Given the description of an element on the screen output the (x, y) to click on. 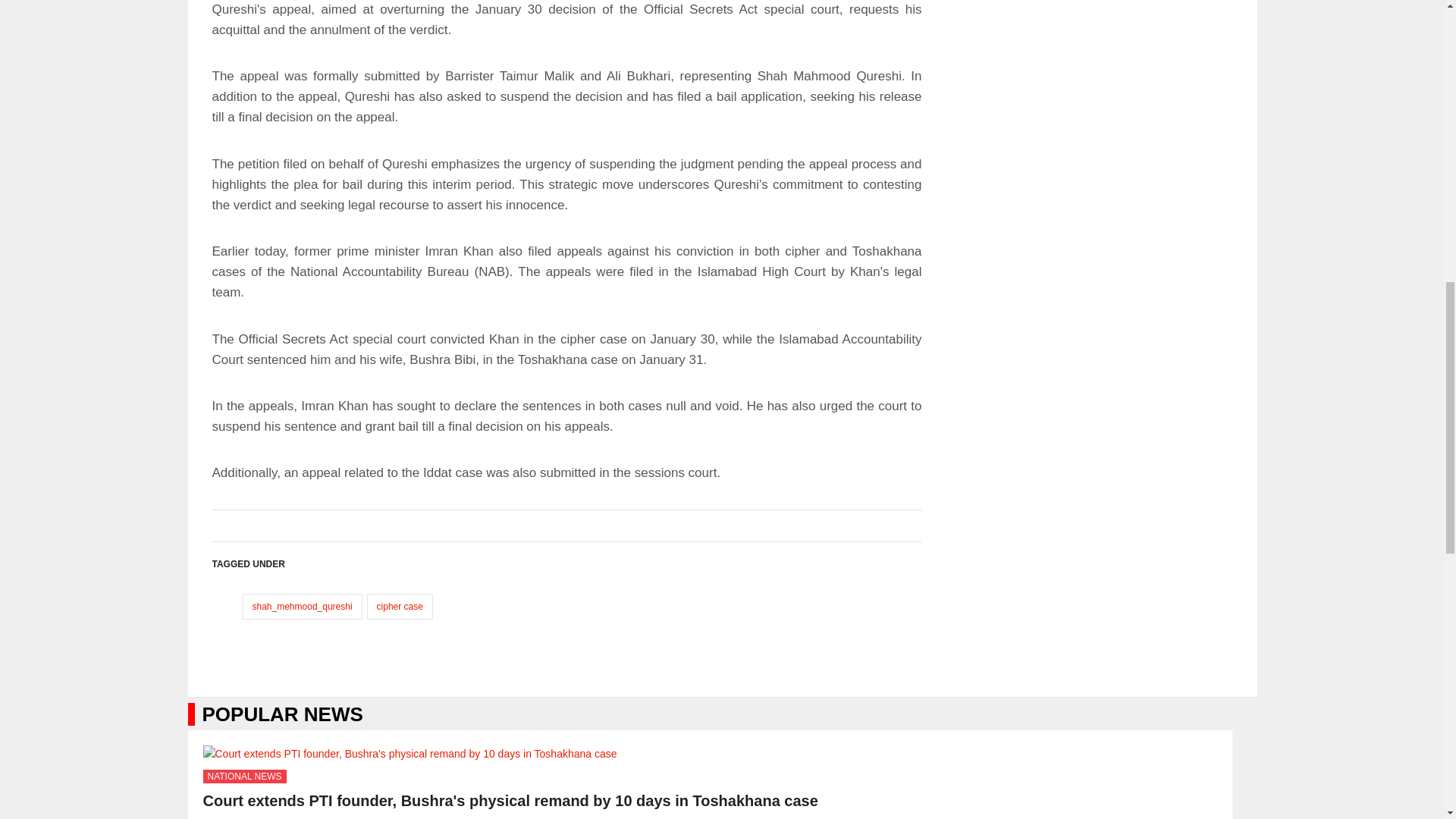
cipher case (400, 606)
NATIONAL NEWS (244, 775)
